Given the description of an element on the screen output the (x, y) to click on. 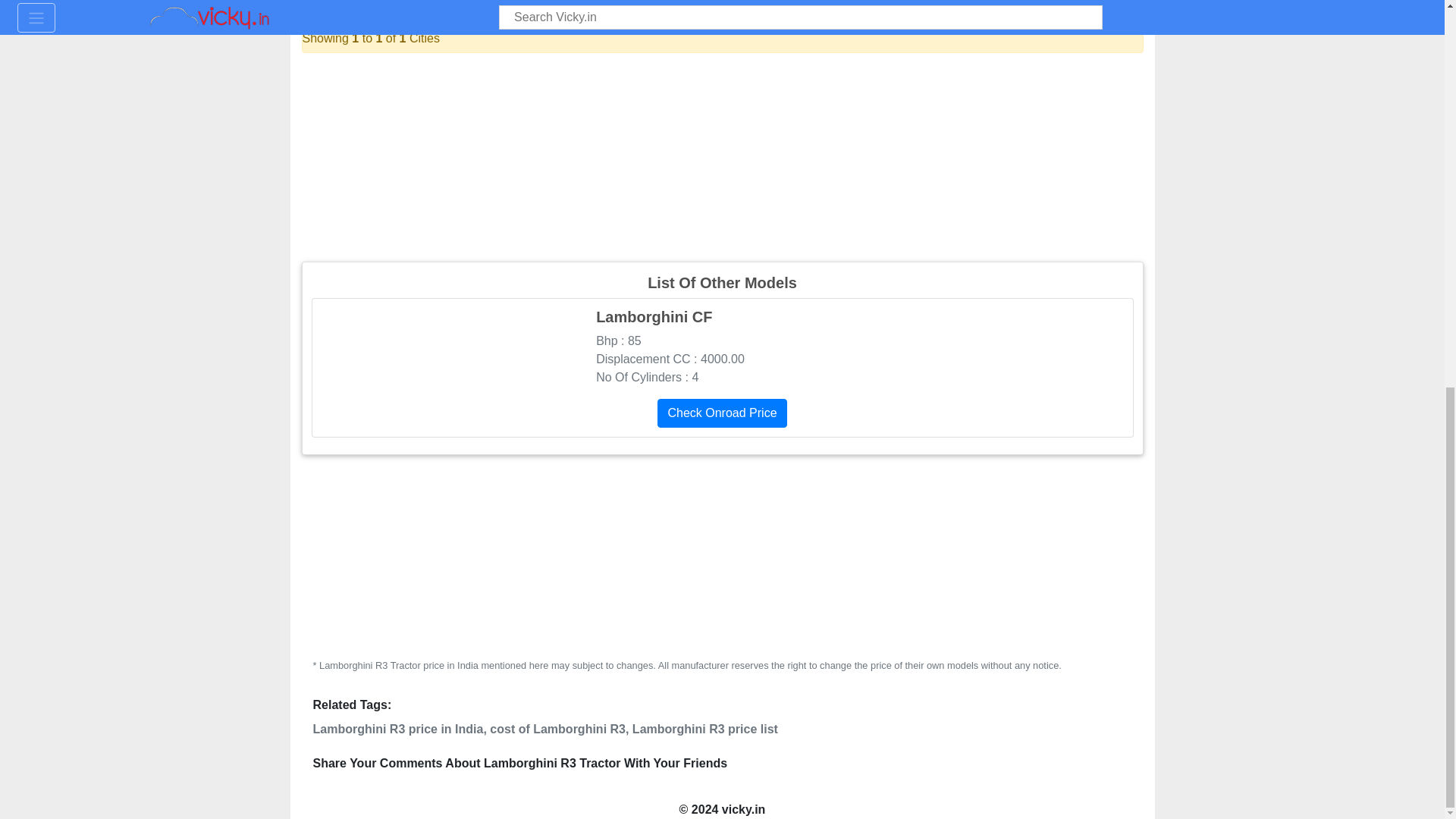
Lamborghini R3 On Road Price in Delhi (511, 3)
Advertisement (721, 155)
Advertisement (721, 555)
Advertisement (580, 785)
Check Onroad Price (722, 412)
Lamborghini CF (722, 352)
